Given the description of an element on the screen output the (x, y) to click on. 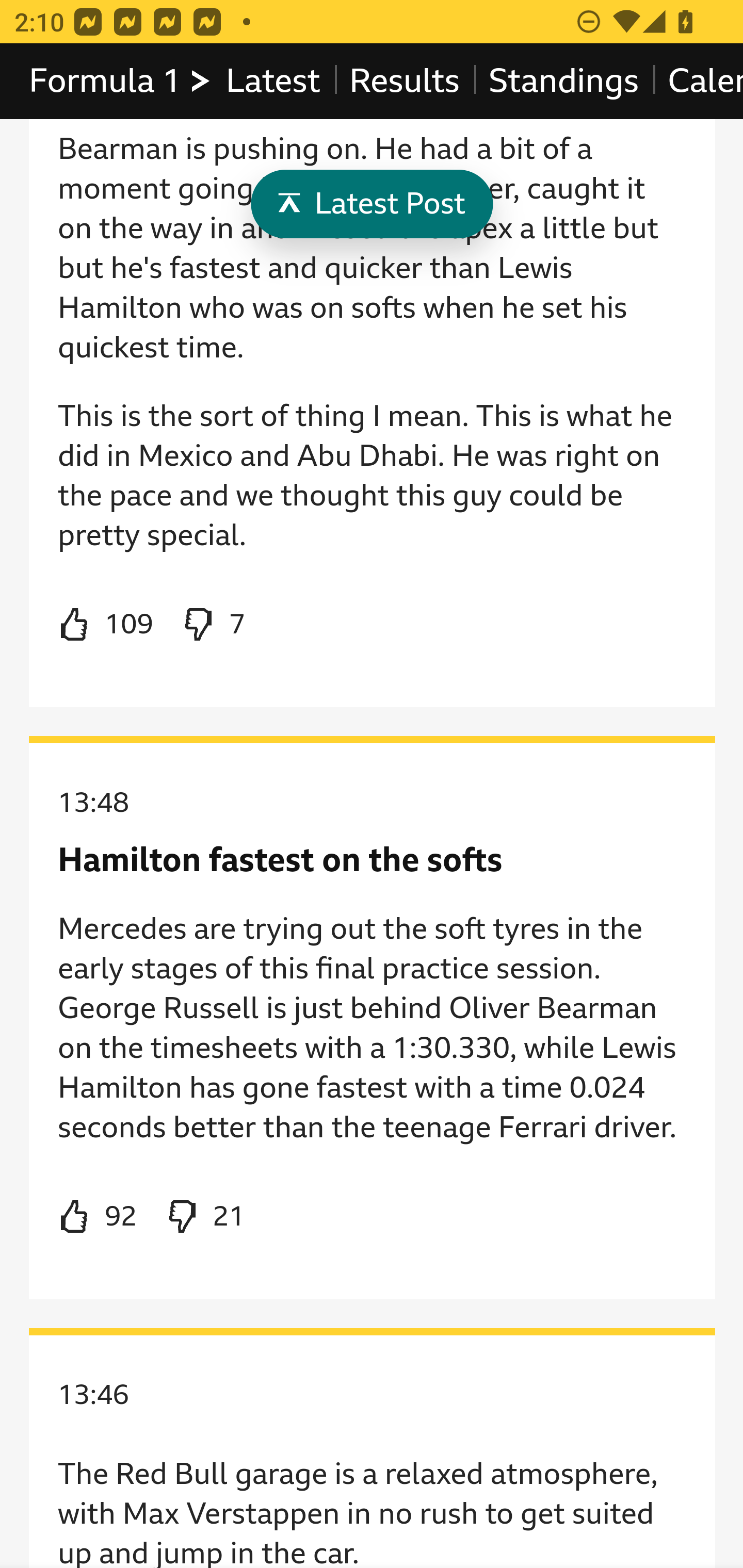
Like (105, 625)
Dislike (212, 625)
Like (97, 1217)
Dislike (204, 1217)
